Given the description of an element on the screen output the (x, y) to click on. 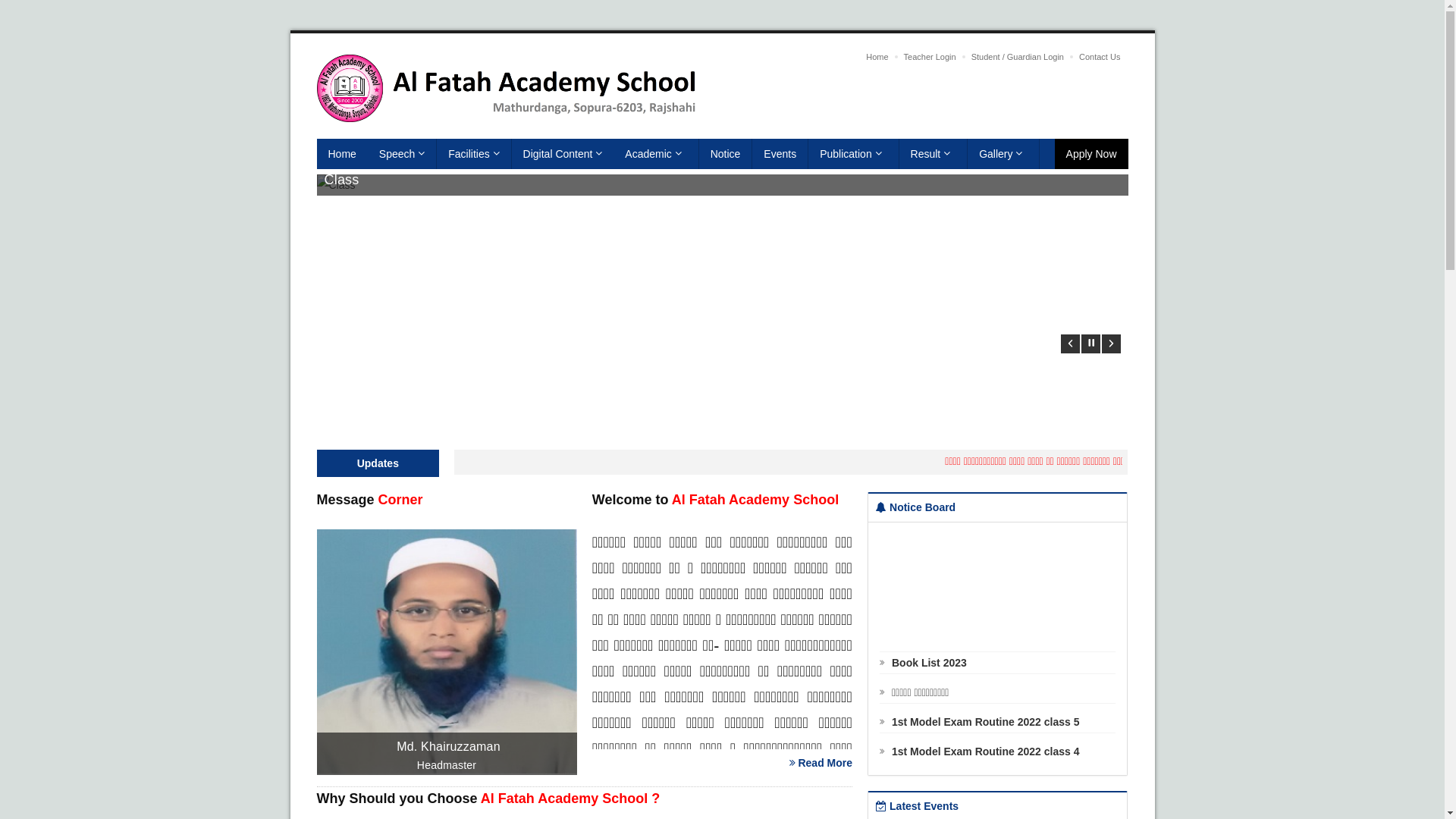
Read More Element type: text (820, 762)
Publication Element type: text (853, 153)
Notice Element type: text (726, 153)
Result Element type: text (933, 153)
1st Model Exam Routine 2022 class 3 Element type: text (979, 794)
Apply Now Element type: text (1091, 153)
Teacher Login Element type: text (929, 56)
Book List 2023 Element type: text (922, 677)
1st Model Exam Routine 2022 class 4 Element type: text (979, 764)
Academic Element type: text (655, 153)
Student / Guardian Login Element type: text (1017, 56)
Home Element type: text (876, 56)
Digital Content Element type: text (562, 153)
Events Element type: text (780, 153)
Facilities Element type: text (473, 153)
Speech Element type: text (401, 153)
Contact Us Element type: text (1099, 56)
Gallery Element type: text (1003, 153)
1st Model Exam Routine 2022 class 5 Element type: text (979, 735)
Home Element type: text (341, 153)
